Given the description of an element on the screen output the (x, y) to click on. 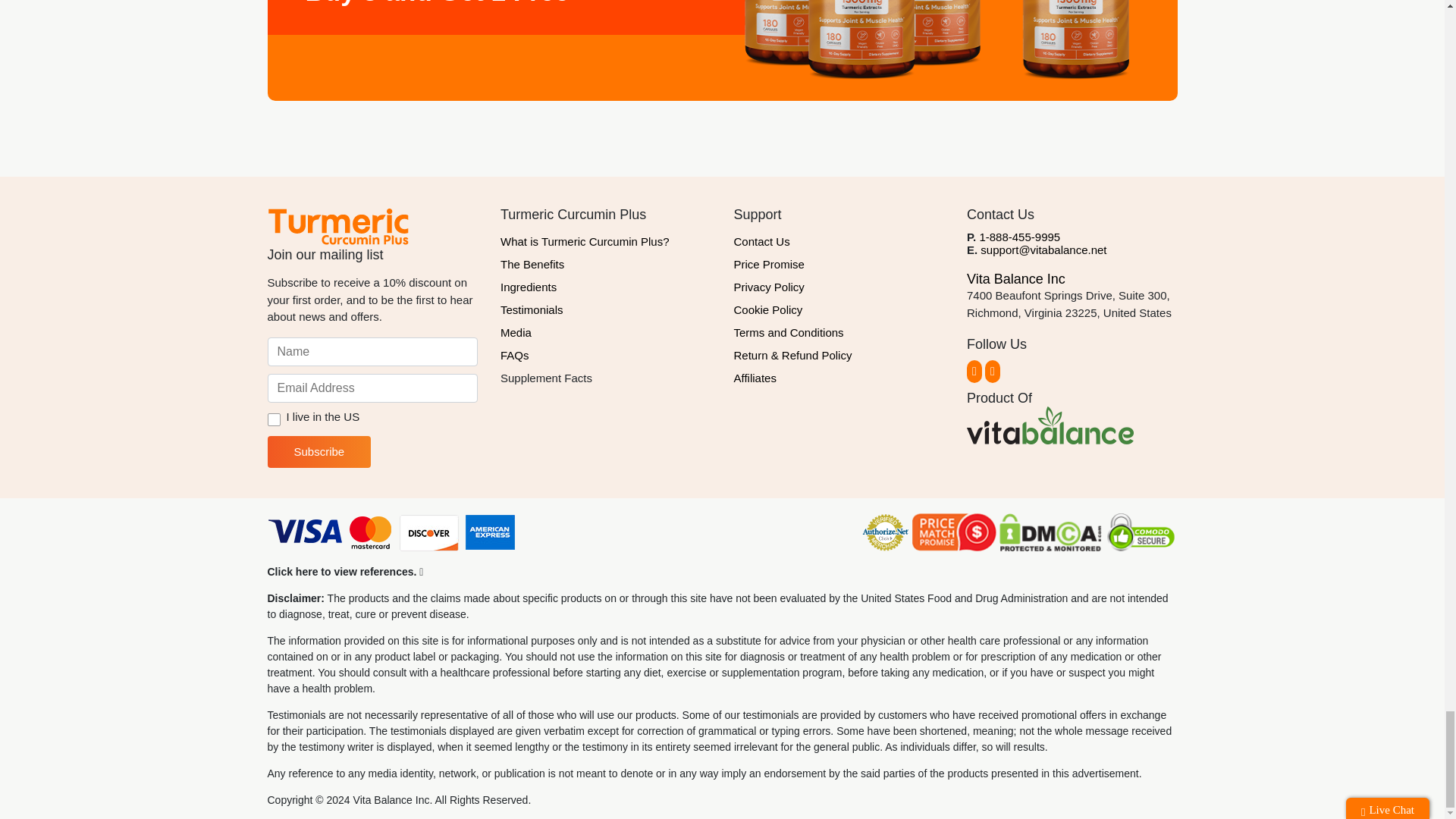
DMCA.com Protection Status (1049, 533)
Subscribe (318, 451)
FAQs (605, 354)
Media (605, 332)
The Benefits (605, 264)
Contact Us (838, 241)
Price Promise (838, 264)
Testimonials (605, 309)
Turmeric Curcumin Plus Official Logo (336, 225)
Ingredients (605, 287)
Vita Balance Official Logo (1050, 425)
What is Turmeric Curcumin Plus? (605, 241)
